Given the description of an element on the screen output the (x, y) to click on. 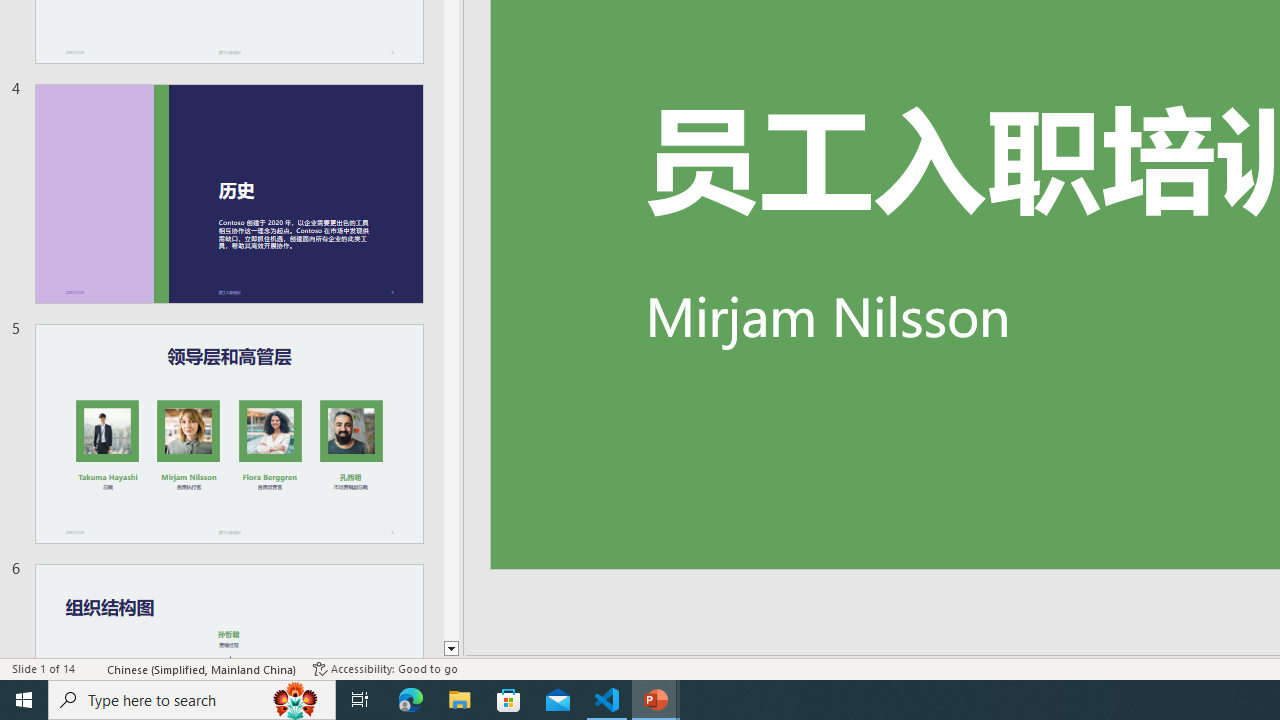
Task View (359, 699)
Microsoft Edge (411, 699)
PowerPoint - 2 running windows (656, 699)
Search highlights icon opens search home window (295, 699)
Visual Studio Code - 1 running window (607, 699)
Start (24, 699)
Type here to search (191, 699)
File Explorer (460, 699)
Microsoft Store (509, 699)
Spell Check  (92, 668)
Accessibility Checker Accessibility: Good to go (384, 668)
